Given the description of an element on the screen output the (x, y) to click on. 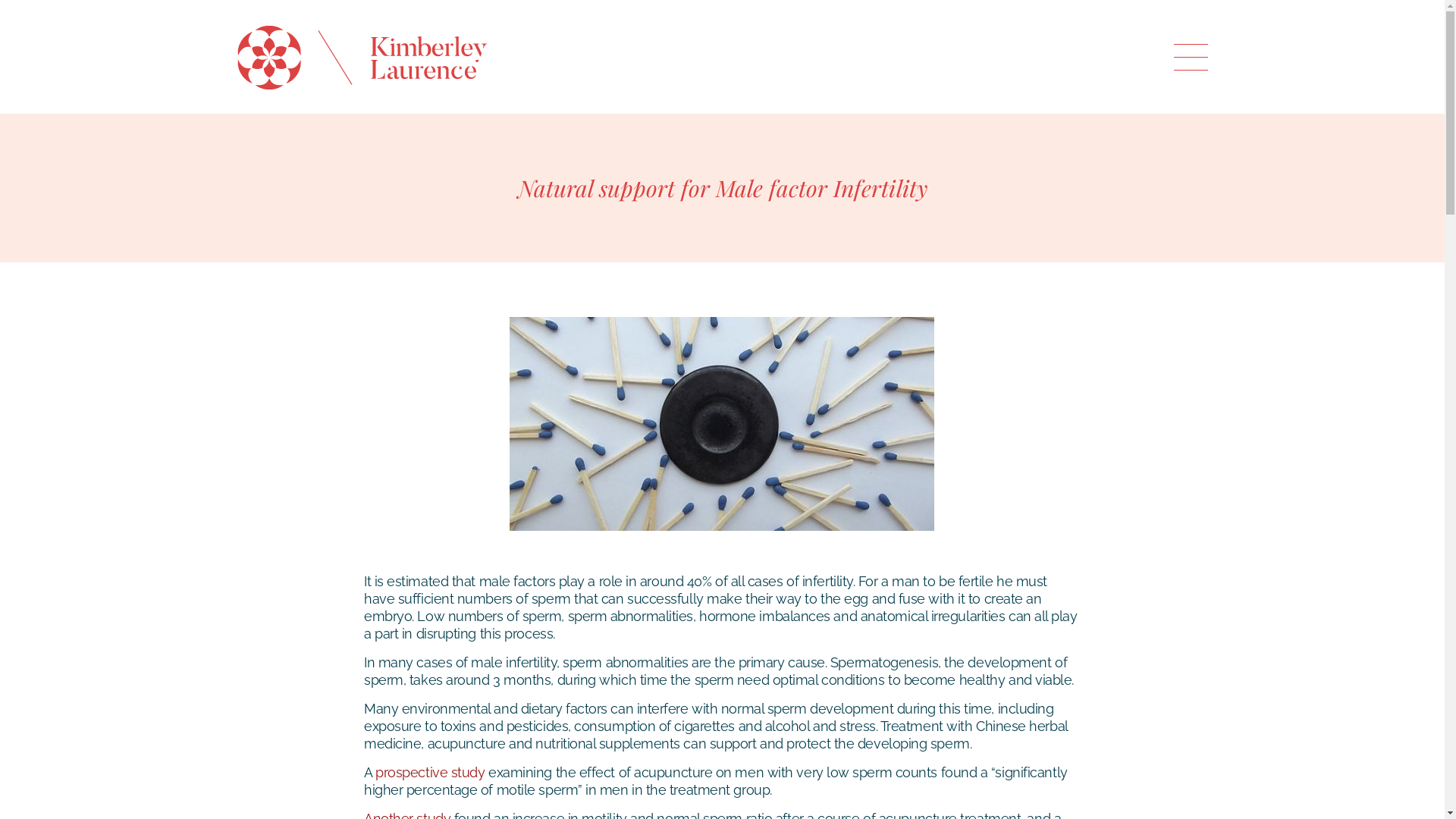
prospective study Element type: text (429, 772)
